Given the description of an element on the screen output the (x, y) to click on. 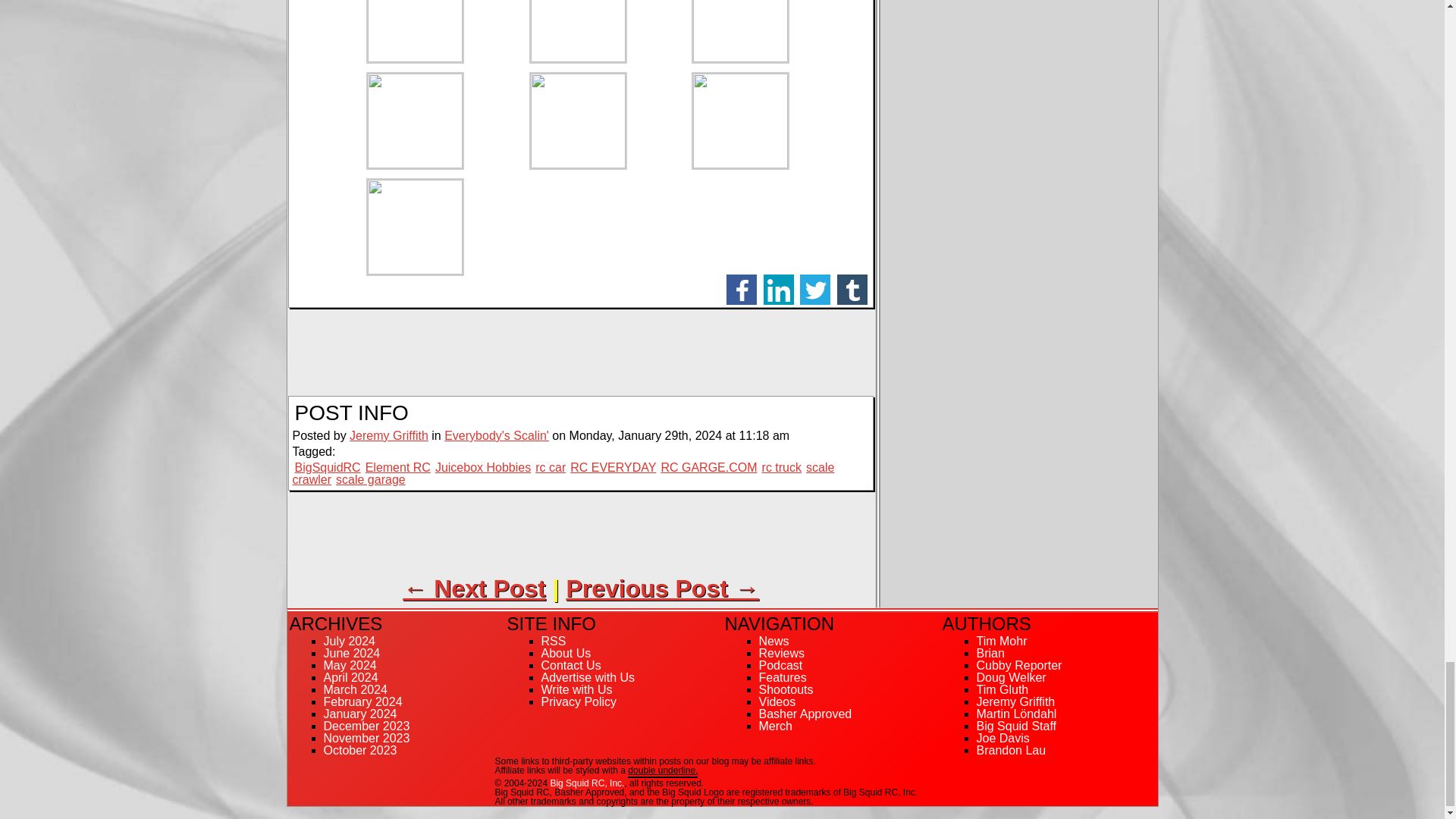
3rd party ad content (580, 534)
linkedin (777, 289)
Juicebox Hobbies (483, 467)
Everybody's Scalin' (496, 435)
scale crawler (563, 473)
facebook (741, 289)
BigSquidRC (326, 467)
Share to Linked In (777, 289)
rc truck (781, 467)
tumblr (852, 289)
3rd party ad content (580, 351)
Share on Twitter (814, 289)
Share to Facebook (741, 289)
RC GARGE.COM (709, 467)
Element RC (397, 467)
